Given the description of an element on the screen output the (x, y) to click on. 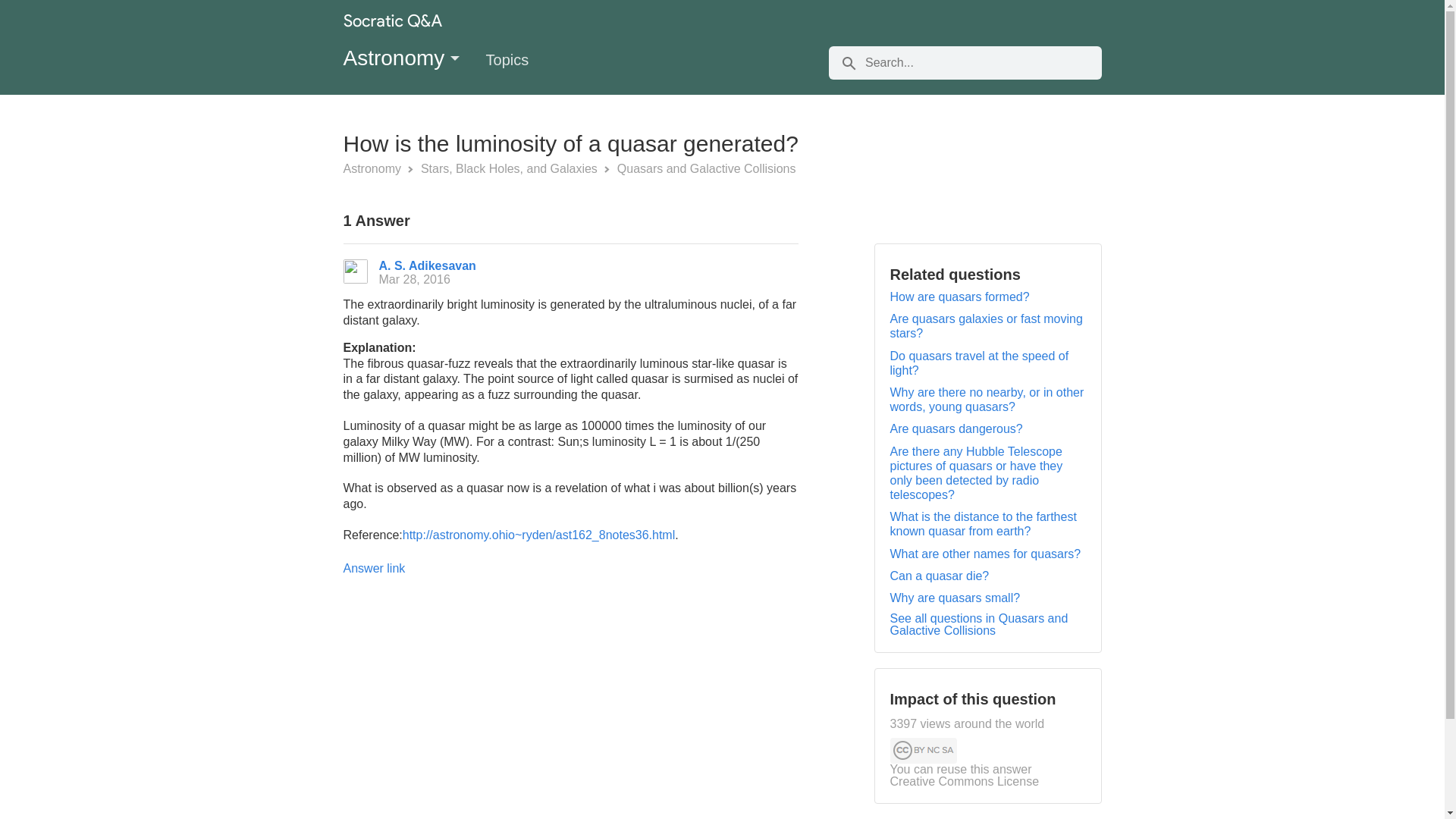
Are quasars galaxies or fast moving stars? (986, 325)
Do quasars travel at the speed of light? (978, 362)
What are other names for quasars? (985, 553)
Why are quasars small? (954, 597)
Topics (521, 63)
Can a quasar die? (939, 575)
Why are there no nearby, or in other words, young quasars? (986, 399)
Astronomy (373, 168)
Are quasars dangerous? (956, 428)
Quasars and Galactive Collisions (706, 168)
Astronomy (401, 58)
Answer link (373, 567)
A. S. Adikesavan (427, 265)
How are quasars formed? (959, 296)
